Given the description of an element on the screen output the (x, y) to click on. 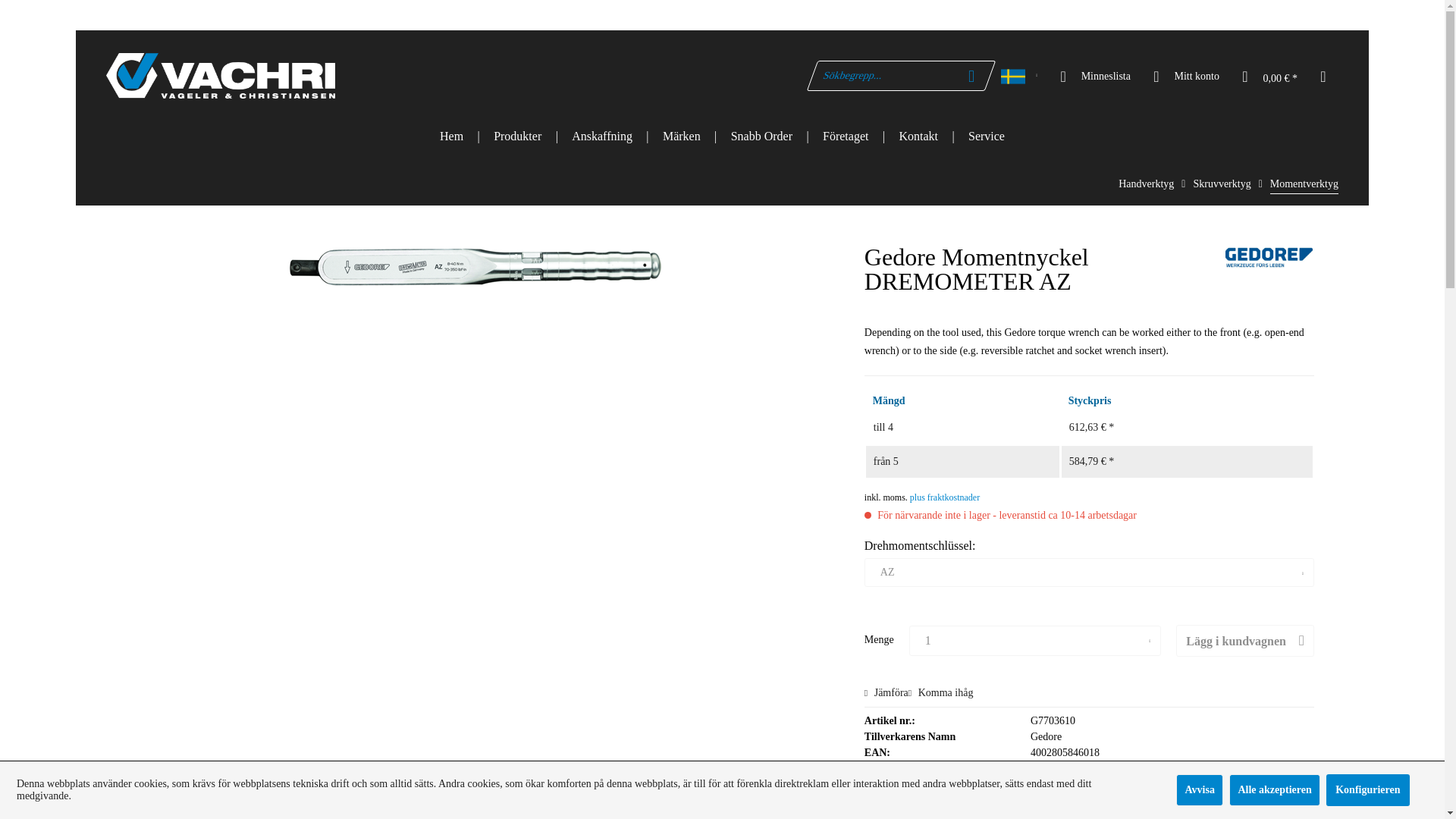
Anskaffning (601, 136)
Hem (452, 136)
Minneslista (1093, 75)
Service (986, 136)
Mitt konto (1184, 75)
Hem (452, 136)
Produkter (517, 136)
Kontakt (918, 136)
Minneslista (1093, 75)
Anskaffning (601, 136)
Mitt konto (1184, 75)
Produkter (517, 136)
Snabb Order (762, 136)
